Given the description of an element on the screen output the (x, y) to click on. 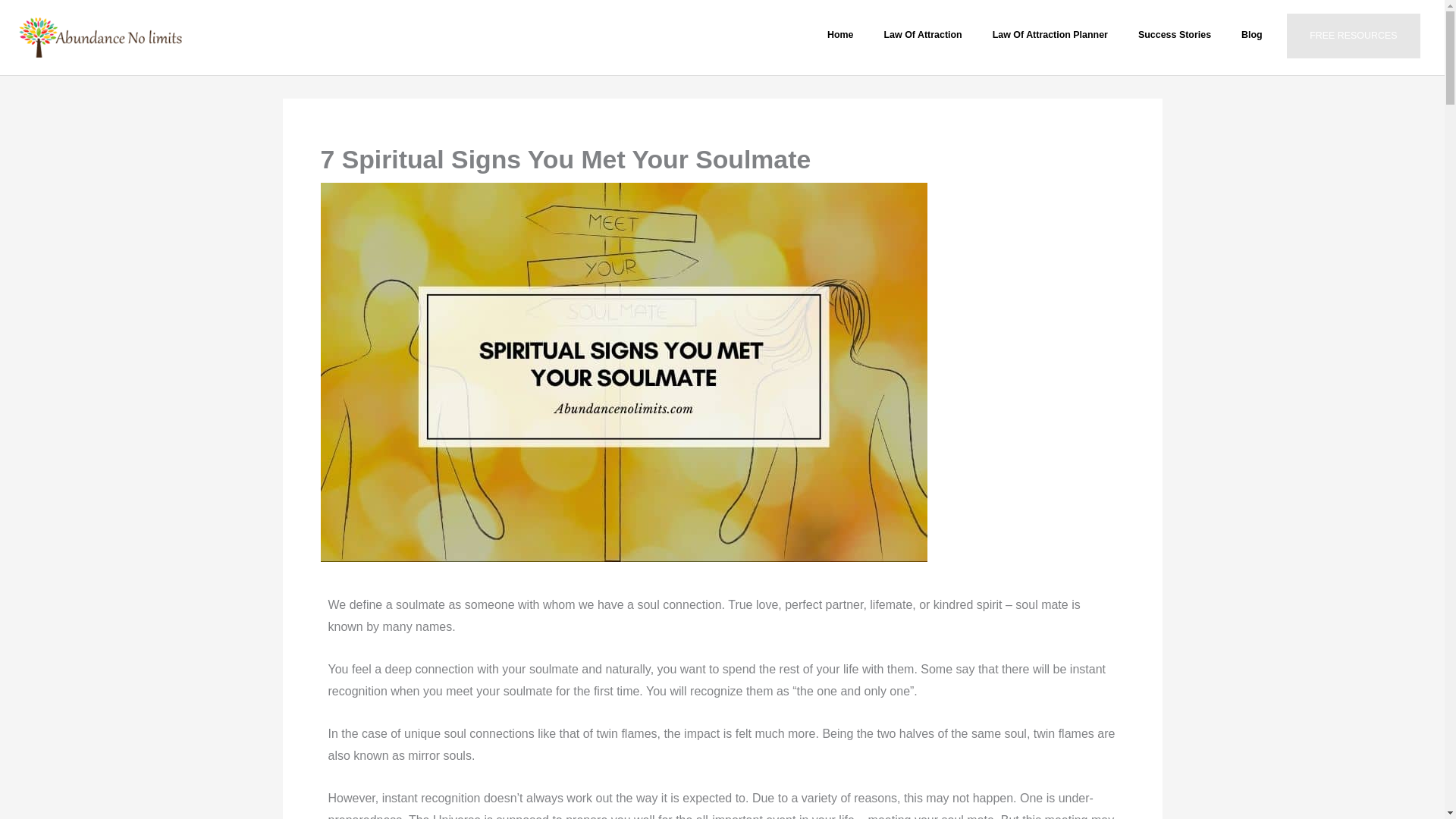
Blog (1251, 35)
Law Of Attraction Planner (1049, 35)
Law Of Attraction (922, 35)
Home (840, 35)
FREE RESOURCES (1353, 35)
Success Stories (1173, 35)
